Given the description of an element on the screen output the (x, y) to click on. 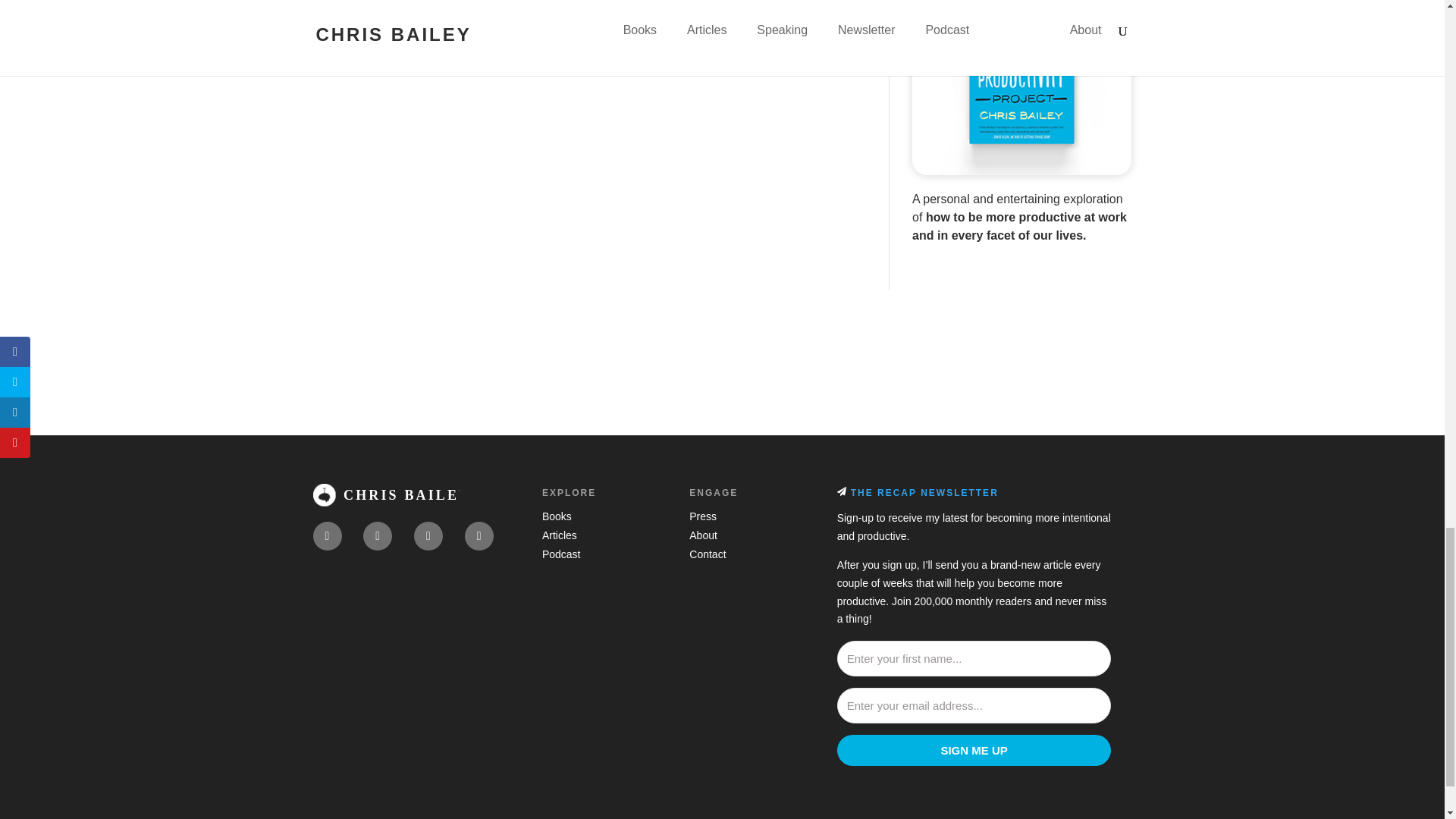
Podcast (560, 553)
Contact (706, 553)
Press (702, 516)
About (702, 535)
CHRIS BAILEY (385, 495)
SIGN ME UP (974, 749)
Articles (558, 535)
Books (556, 516)
